Given the description of an element on the screen output the (x, y) to click on. 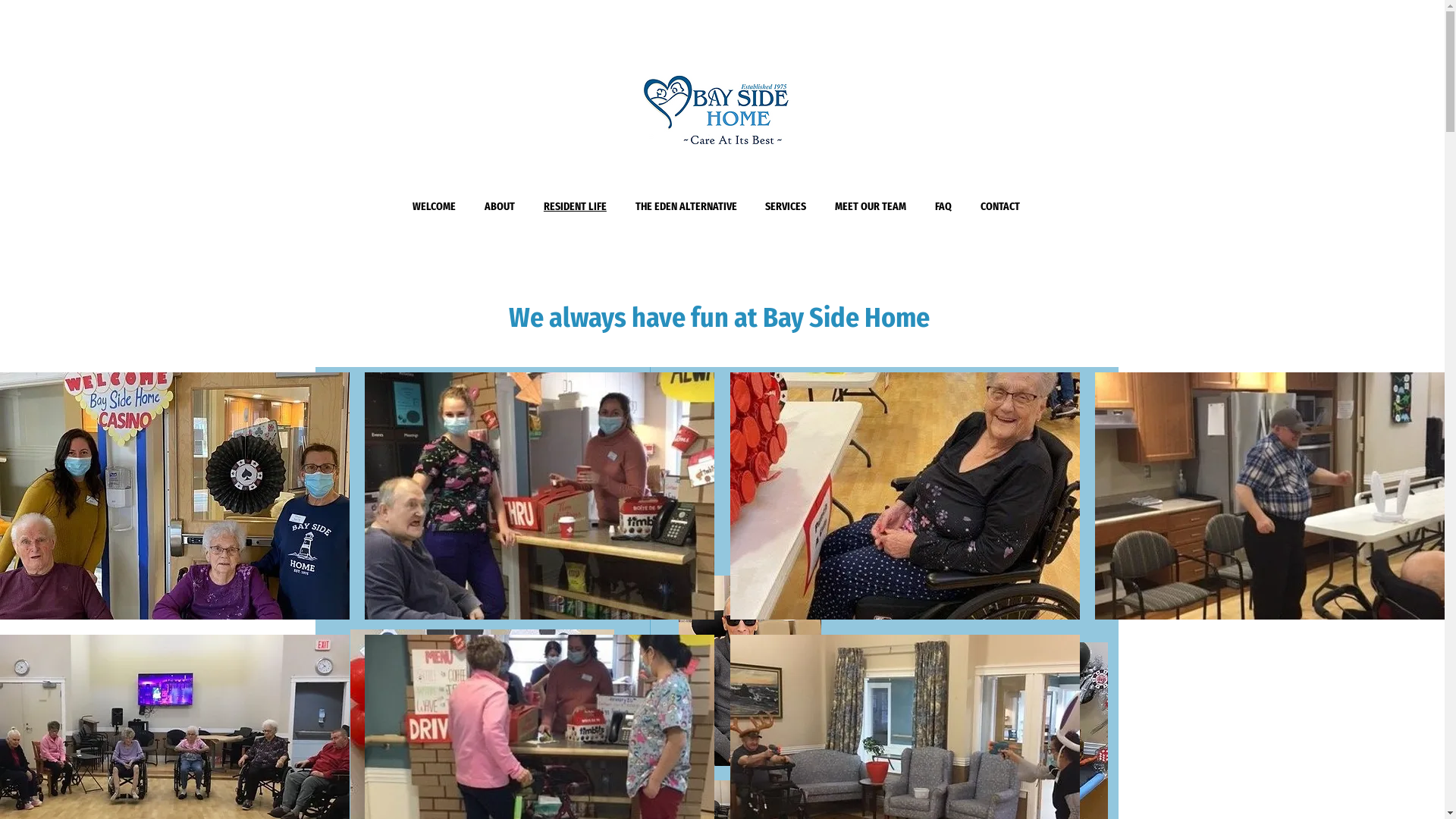
FAQ Element type: text (943, 206)
RESIDENT LIFE Element type: text (575, 206)
SERVICES Element type: text (785, 206)
WELCOME Element type: text (434, 206)
CONTACT Element type: text (1000, 206)
THE EDEN ALTERNATIVE Element type: text (686, 206)
The company logo Element type: hover (717, 108)
MEET OUR TEAM Element type: text (870, 206)
ABOUT Element type: text (499, 206)
